Given the description of an element on the screen output the (x, y) to click on. 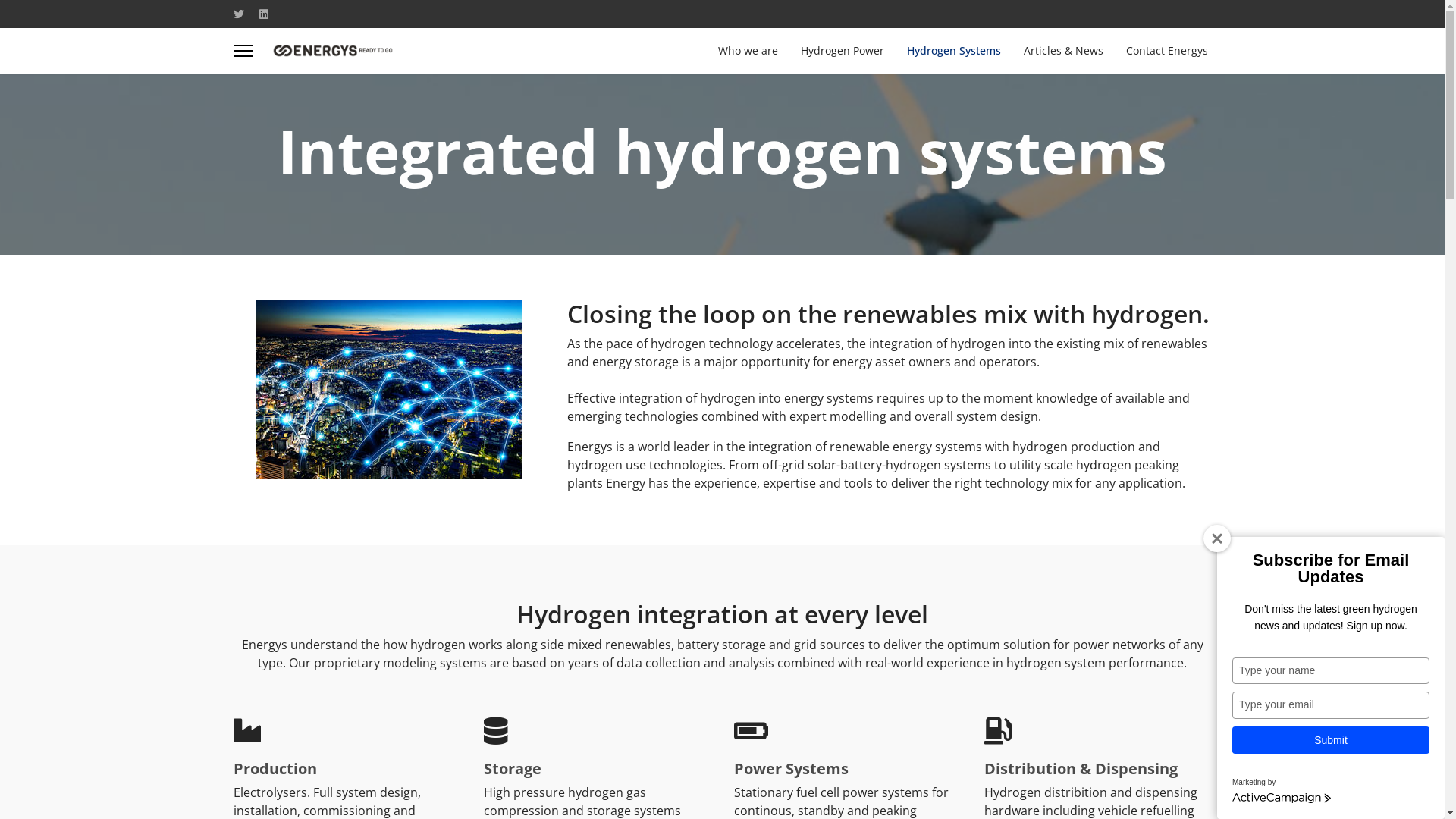
Who we are Element type: text (747, 50)
Hydrogen Systems Element type: text (952, 50)
Menu Element type: hover (242, 50)
ActiveCampaign Element type: text (1281, 798)
Hydrogen Power Element type: text (841, 50)
Submit Element type: text (1330, 739)
Contact Energys Element type: text (1161, 50)
Articles & News Element type: text (1062, 50)
